Given the description of an element on the screen output the (x, y) to click on. 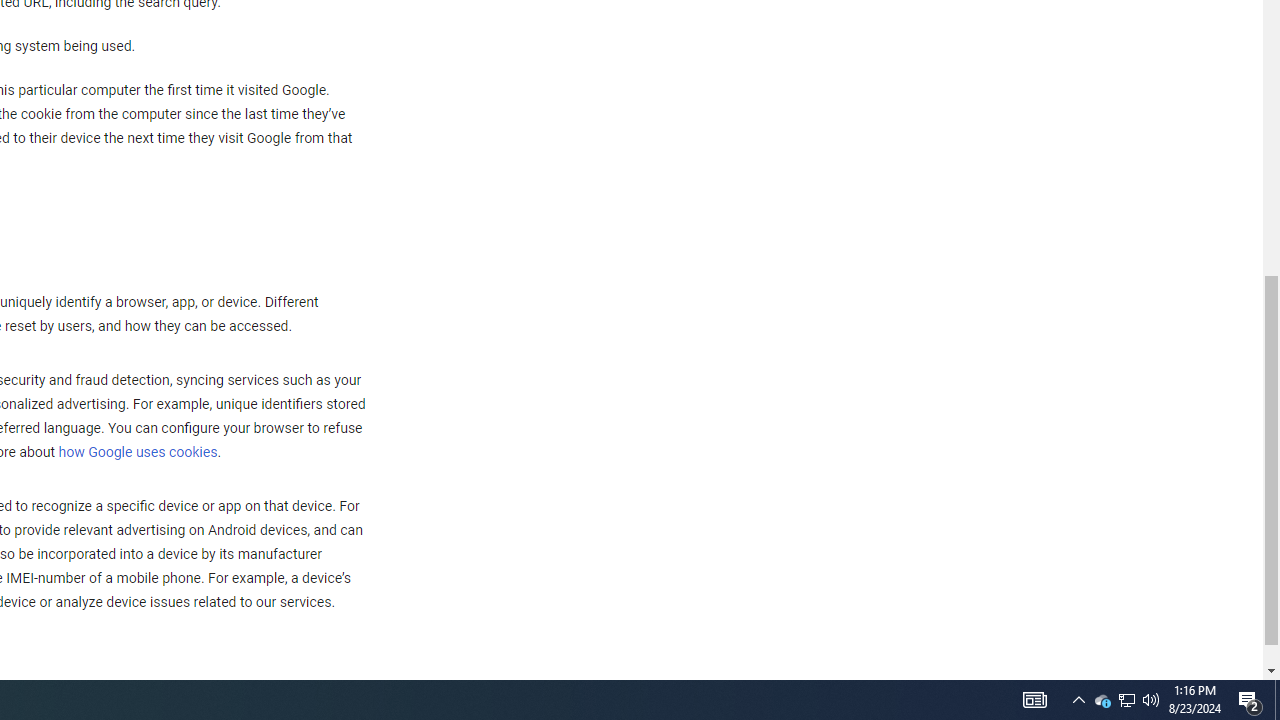
how Google uses cookies (137, 453)
